Given the description of an element on the screen output the (x, y) to click on. 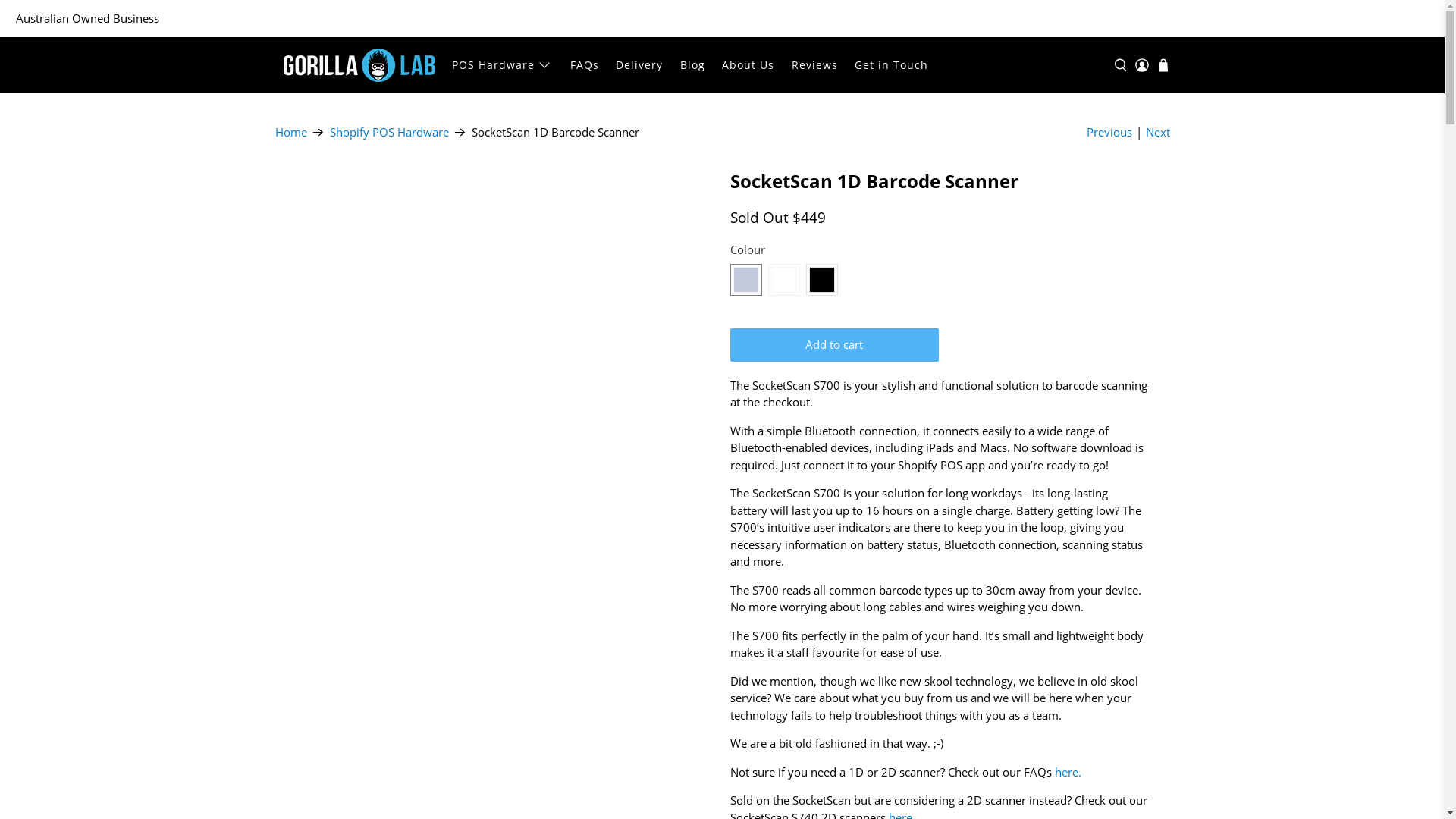
Gorilla Lab | Shopify Experts Element type: hover (359, 64)
here.  Element type: text (1068, 771)
About Us Element type: text (748, 64)
FAQs Element type: text (584, 64)
Reviews Element type: text (814, 64)
Home Element type: text (290, 131)
POS Hardware Element type: text (502, 65)
Blog Element type: text (692, 64)
Delivery Element type: text (639, 64)
Add to cart Element type: text (833, 344)
Shopify POS Hardware Element type: text (388, 131)
Previous Element type: text (1108, 132)
Get in Touch Element type: text (891, 64)
Next Element type: text (1157, 132)
